Given the description of an element on the screen output the (x, y) to click on. 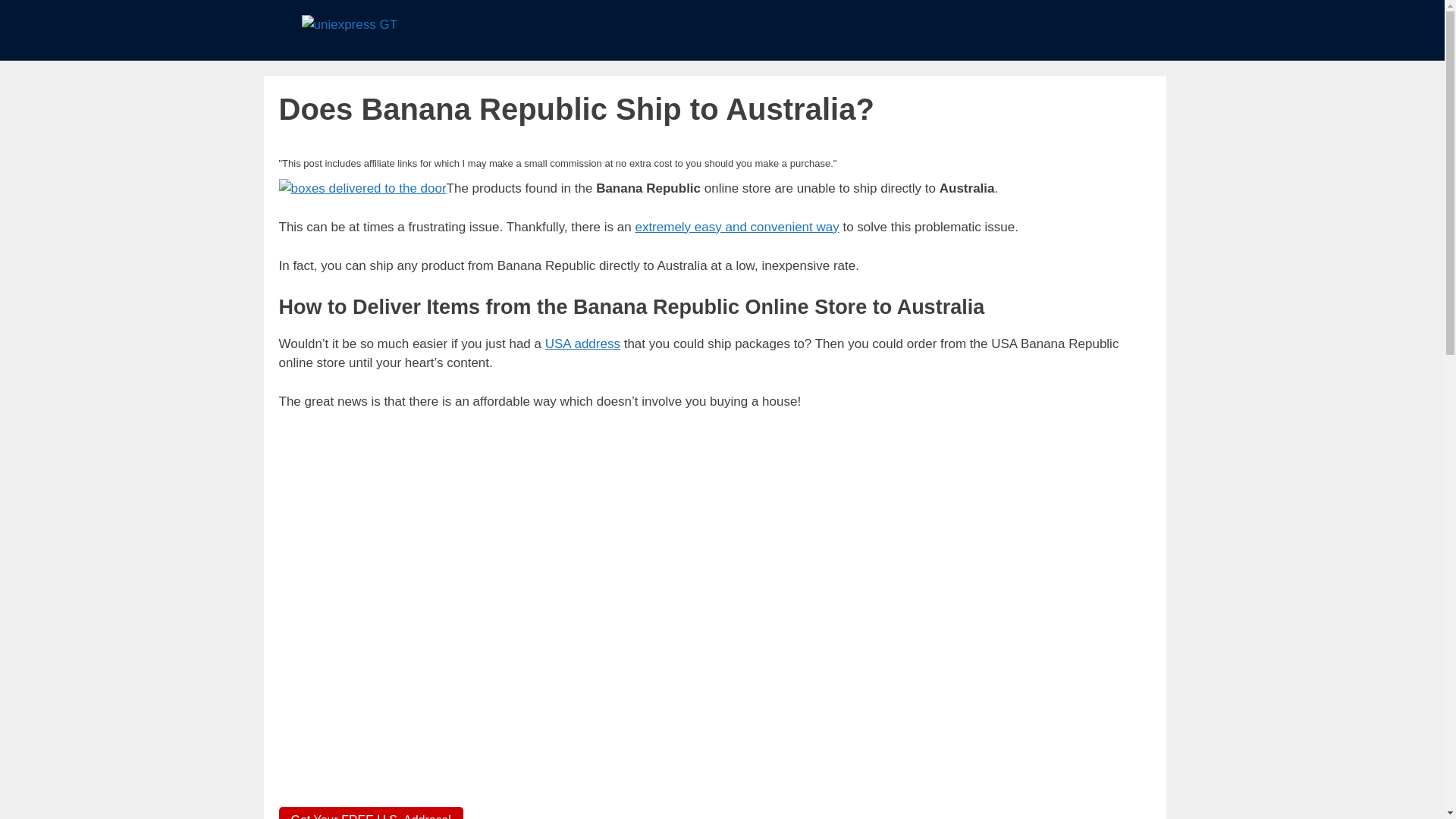
uniexpress GT (349, 24)
Get Your FREE U.S. Address! (371, 812)
extremely easy and convenient way (736, 227)
USA address (582, 343)
uniexpress GT (349, 25)
